Given the description of an element on the screen output the (x, y) to click on. 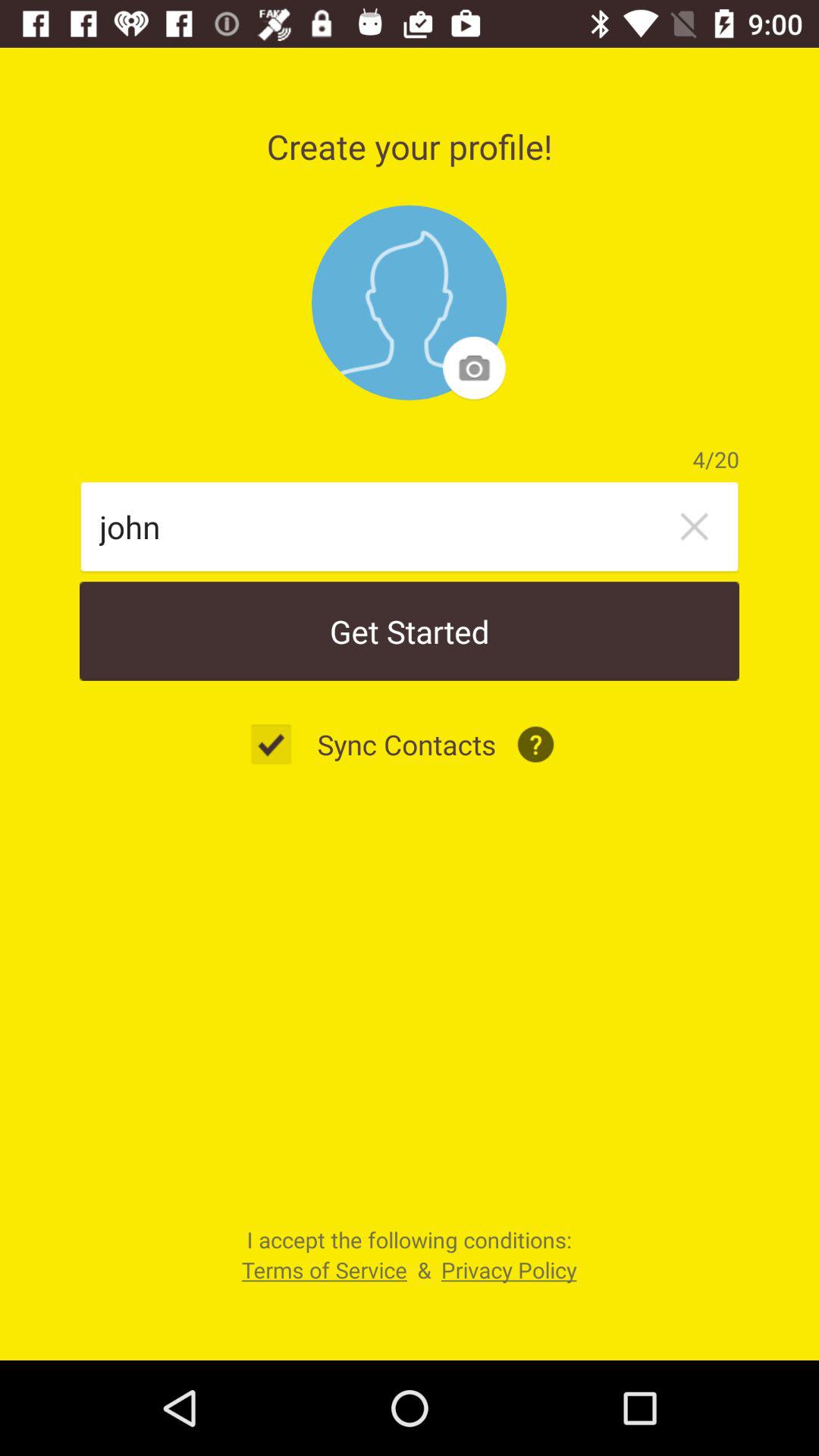
turn on privacy policy icon (508, 1269)
